Given the description of an element on the screen output the (x, y) to click on. 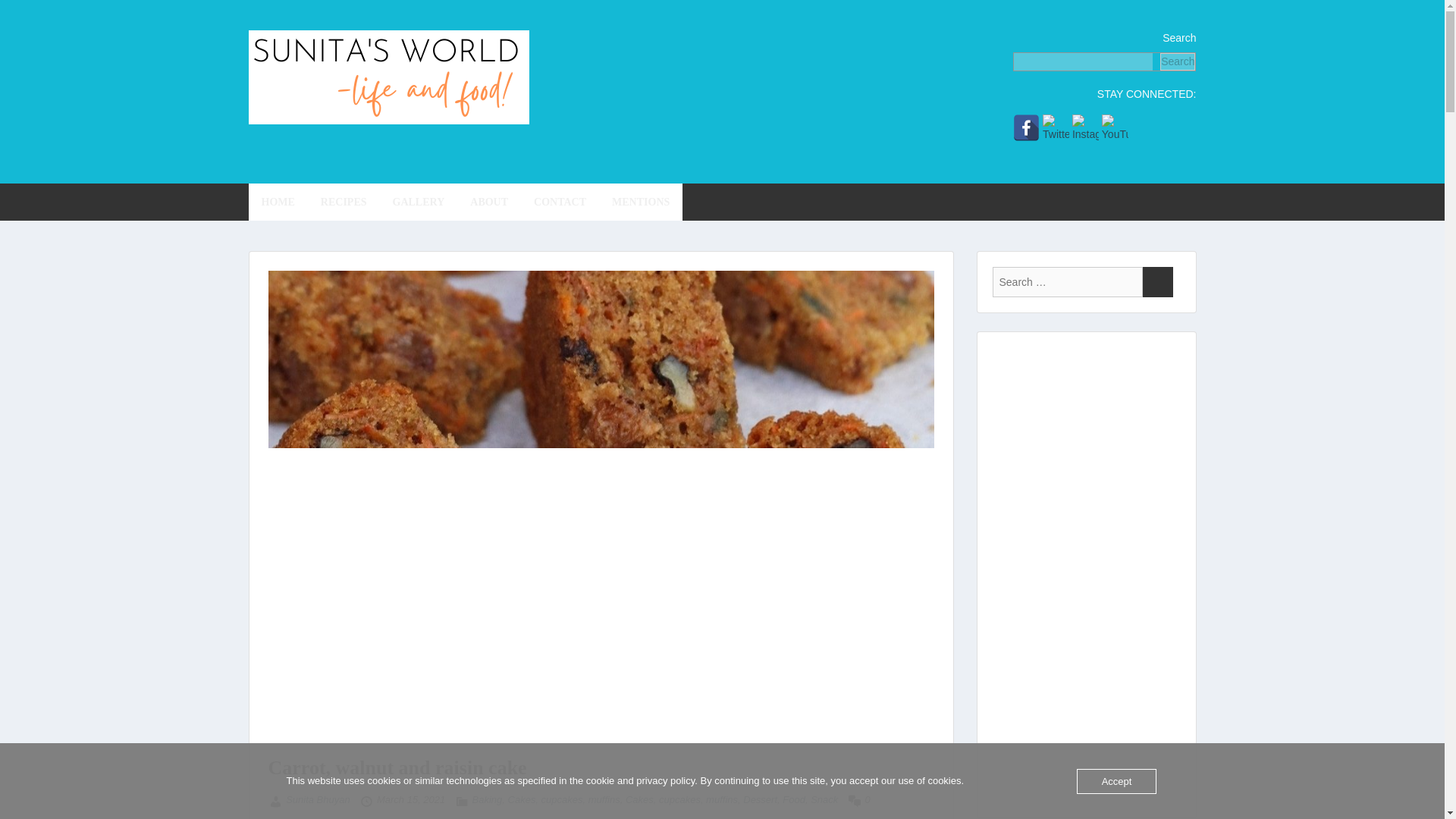
RECIPES (343, 201)
Search (1177, 61)
HOME (277, 201)
Facebook (1026, 127)
YouTube (1115, 127)
Instagram (1085, 127)
Search (1156, 281)
Twitter (1055, 127)
